Given the description of an element on the screen output the (x, y) to click on. 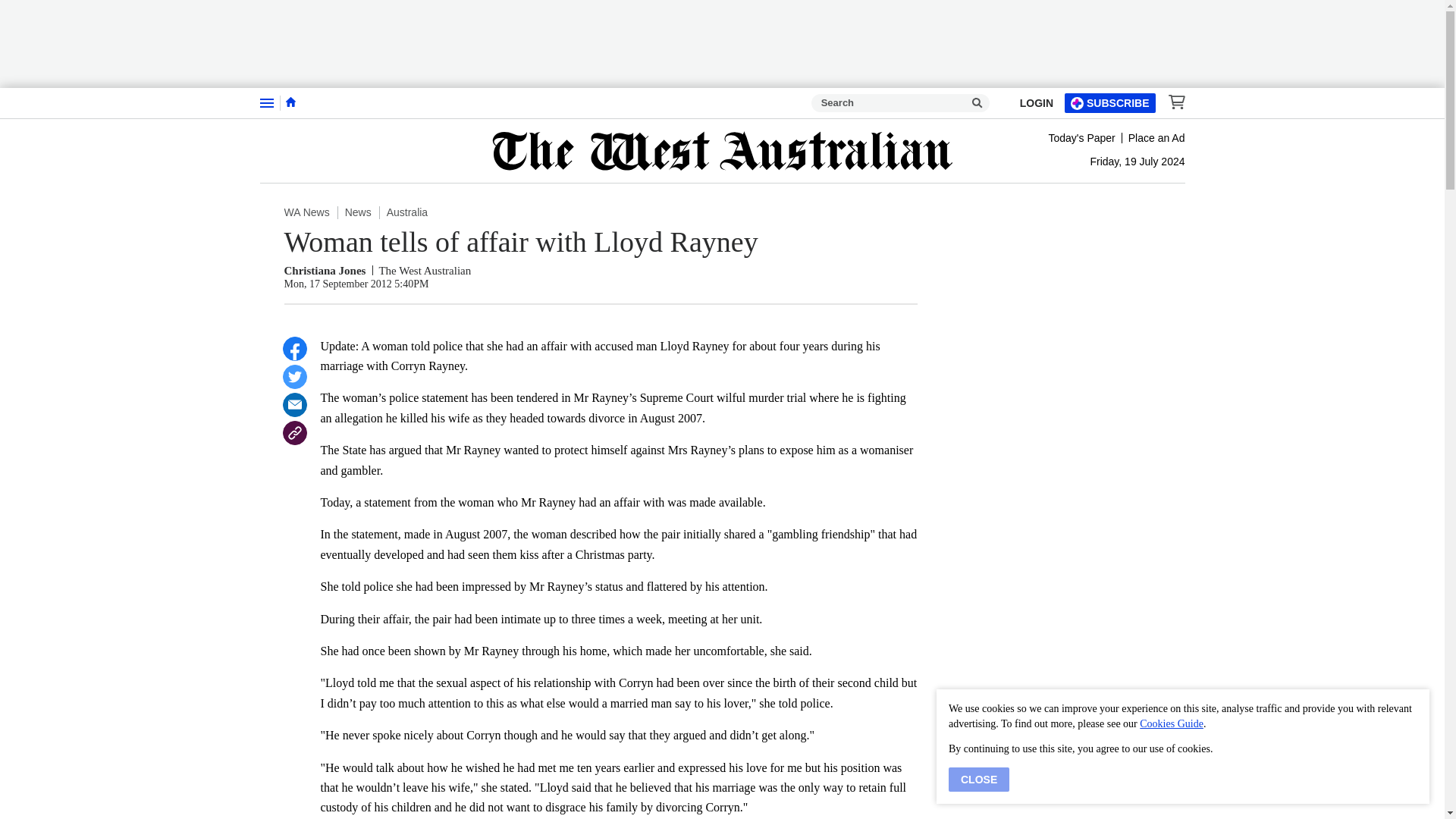
Home (290, 102)
Empty Cart Icon (1172, 102)
Please enter a search term. (977, 102)
